Given the description of an element on the screen output the (x, y) to click on. 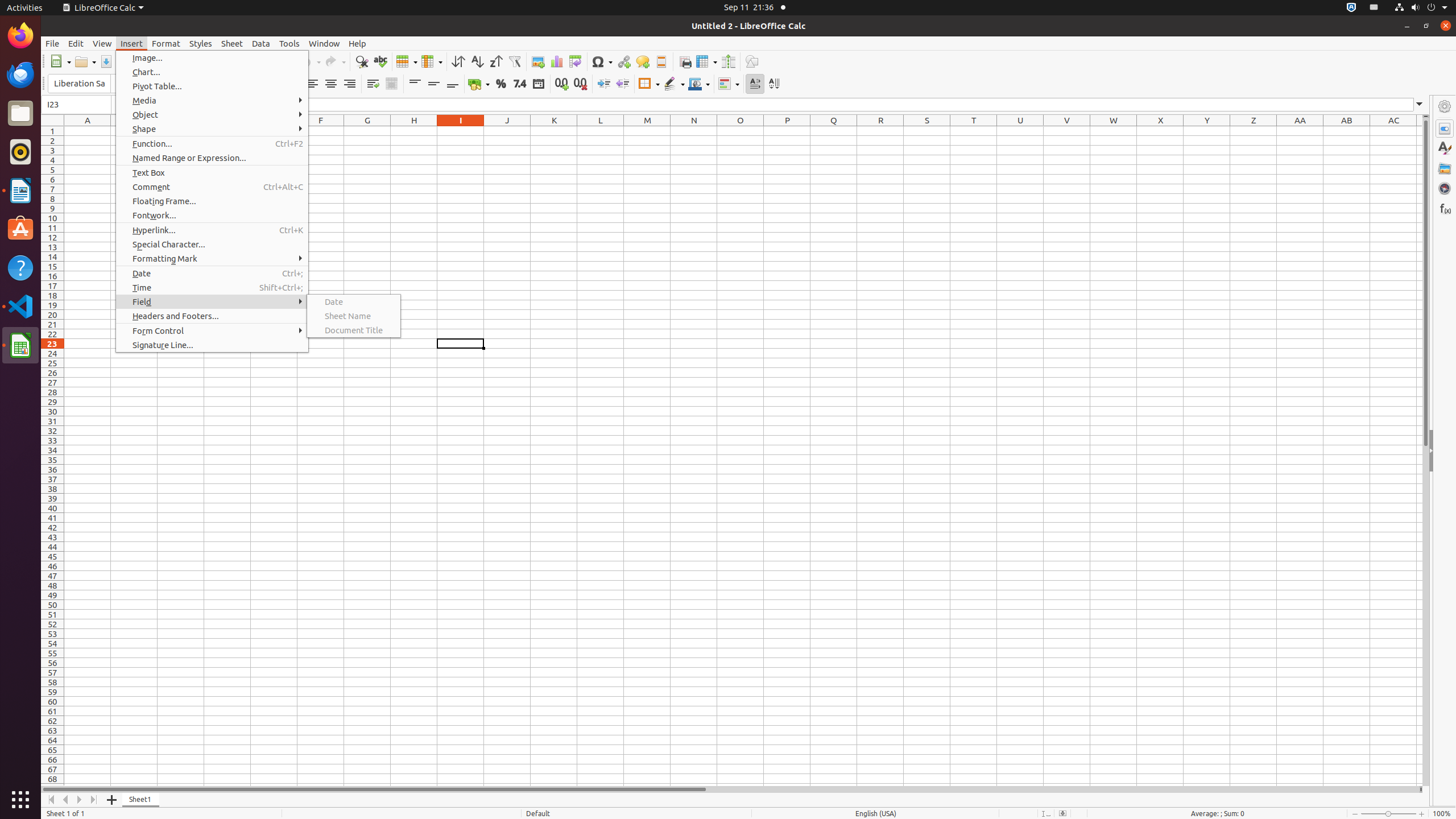
Freeze Rows and Columns Element type: push-button (705, 61)
IsaHelpMain.desktop Element type: label (75, 170)
Align Bottom Element type: push-button (452, 83)
Vertical scroll bar Element type: scroll-bar (1425, 451)
I1 Element type: table-cell (460, 130)
